Given the description of an element on the screen output the (x, y) to click on. 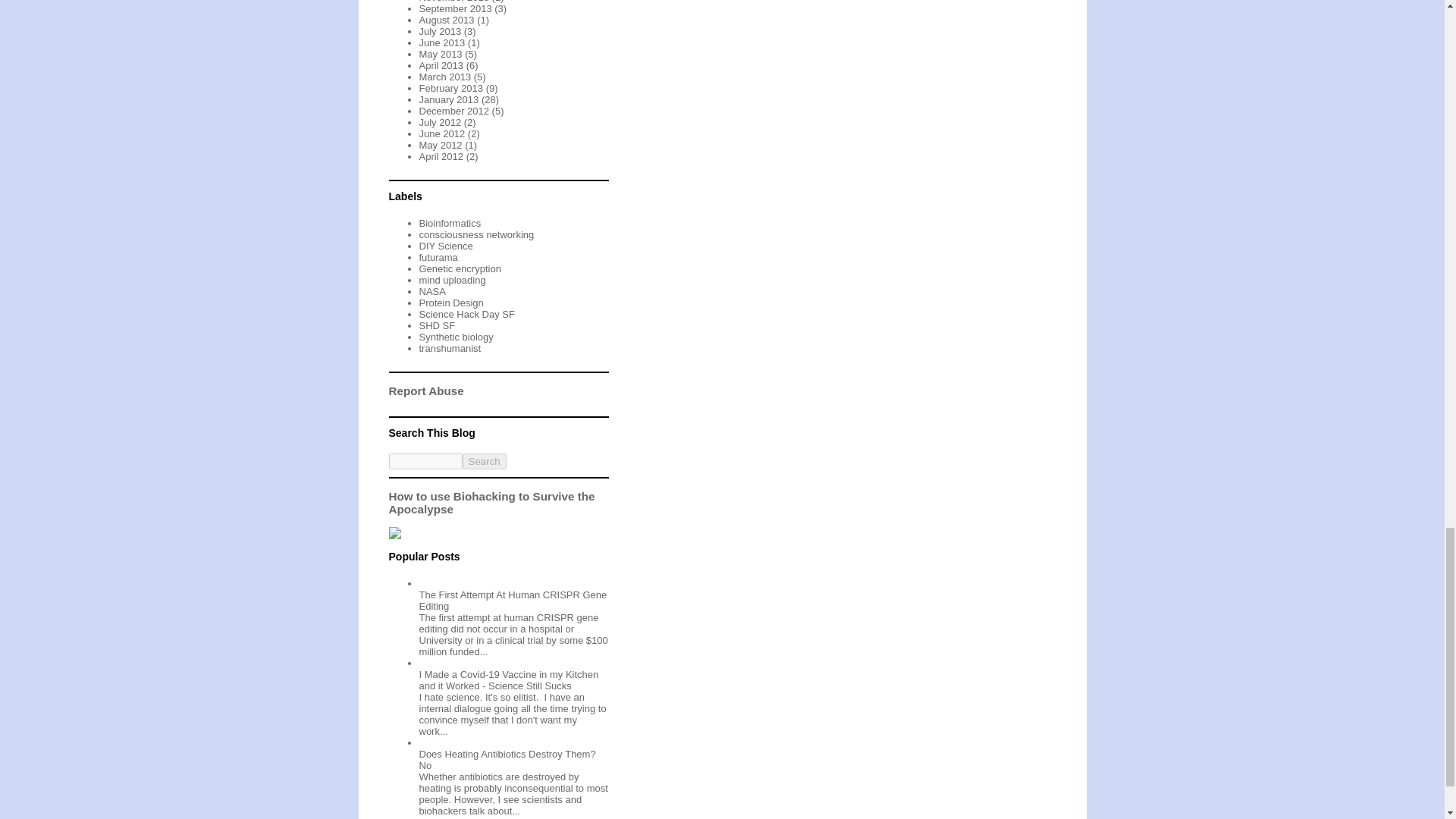
Search (484, 461)
Search (484, 461)
search (424, 461)
search (484, 461)
